Given the description of an element on the screen output the (x, y) to click on. 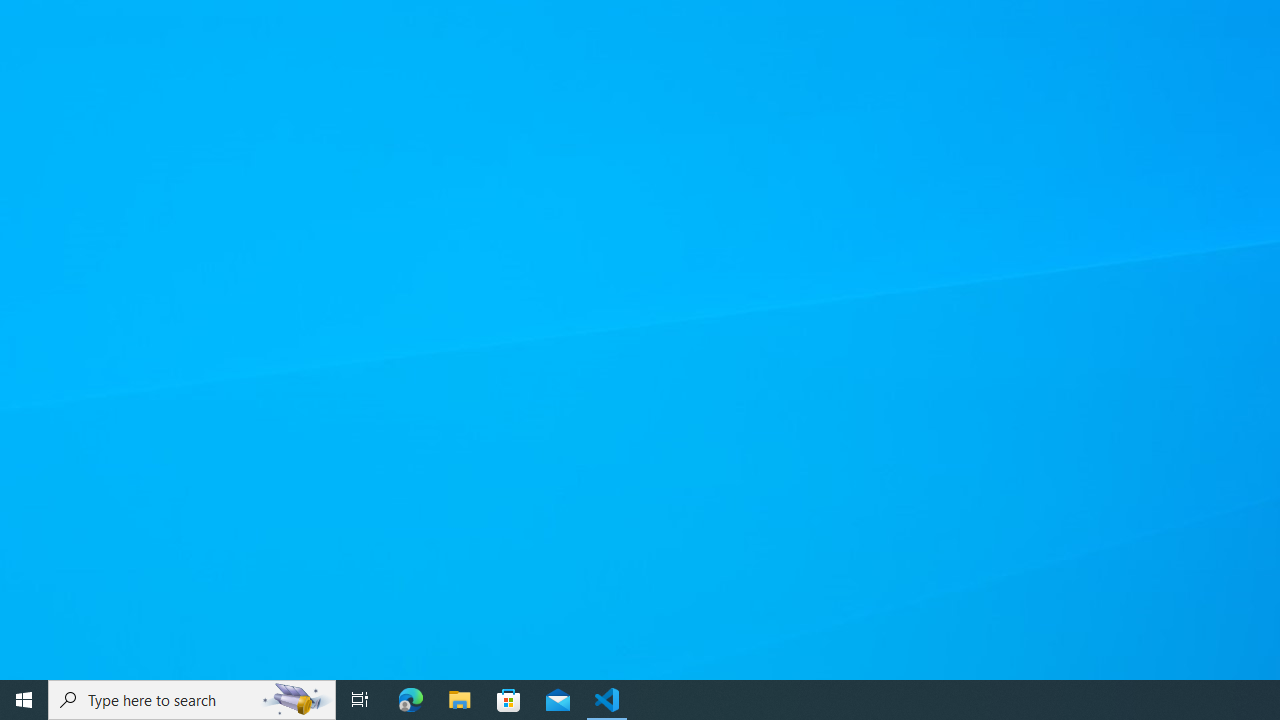
Microsoft Edge (411, 699)
File Explorer (460, 699)
Type here to search (191, 699)
Microsoft Store (509, 699)
Start (24, 699)
Search highlights icon opens search home window (295, 699)
Visual Studio Code - 1 running window (607, 699)
Task View (359, 699)
